Given the description of an element on the screen output the (x, y) to click on. 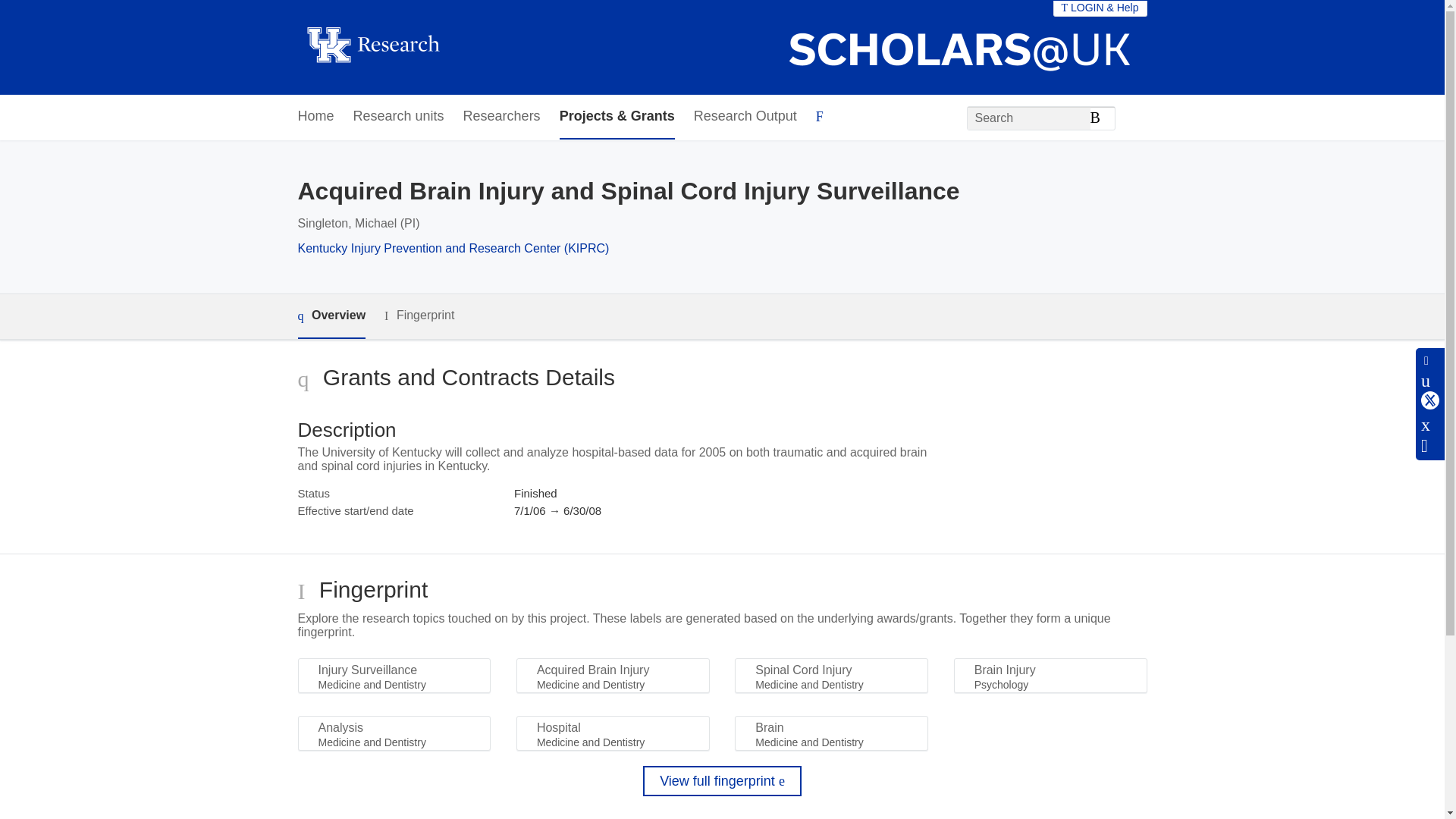
Fingerprint (419, 315)
Researchers (501, 117)
University of Kentucky Home (372, 47)
Research Output (745, 117)
Research units (398, 117)
Overview (331, 316)
View full fingerprint (722, 780)
